Given the description of an element on the screen output the (x, y) to click on. 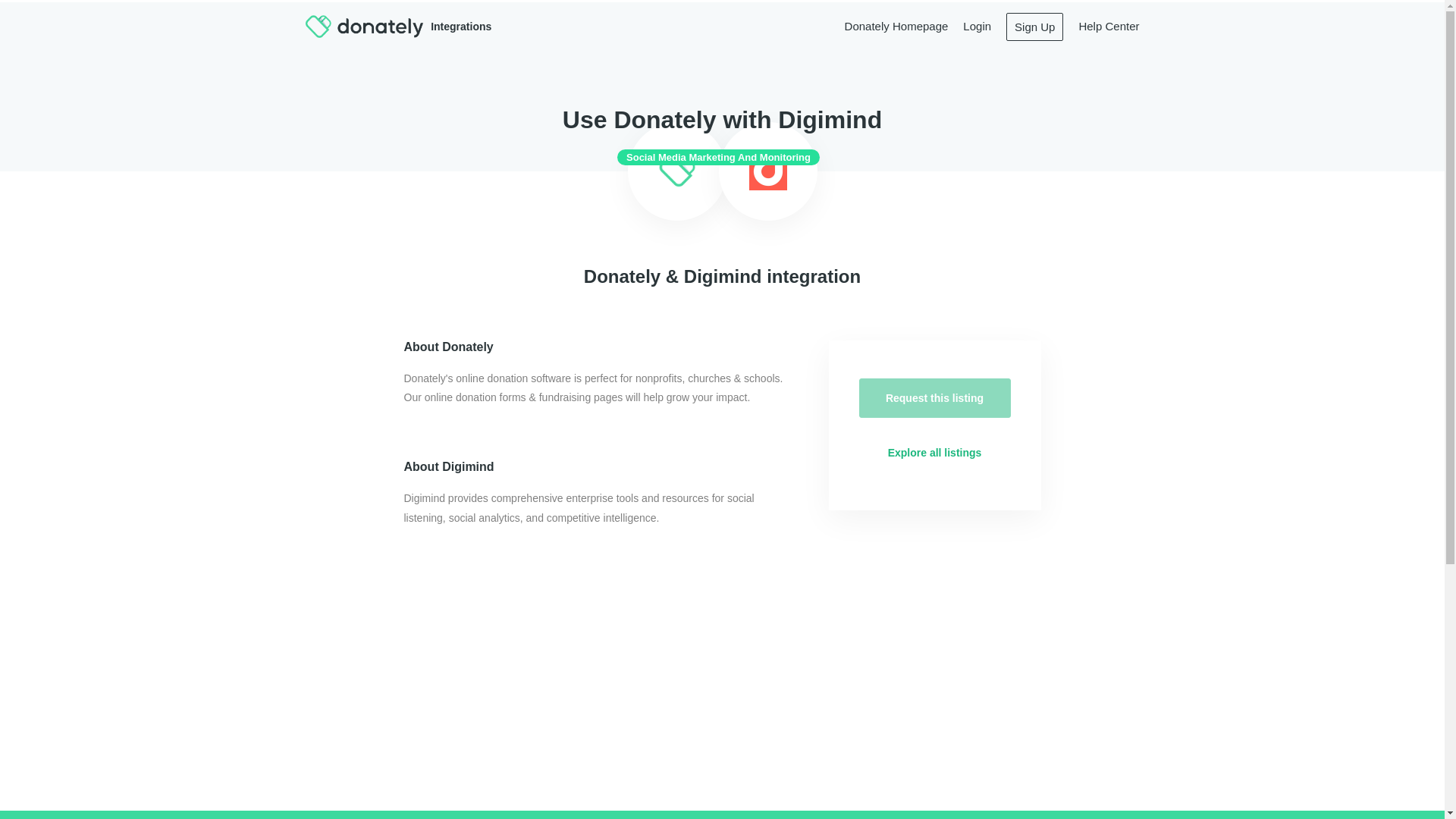
Integrations (433, 26)
Donately Homepage (896, 25)
Digimind (768, 171)
Login (976, 25)
Sign Up (1034, 26)
Donately (363, 26)
Request this listing (934, 397)
Donately (676, 171)
Help Center (1108, 25)
Explore all listings (934, 452)
